Given the description of an element on the screen output the (x, y) to click on. 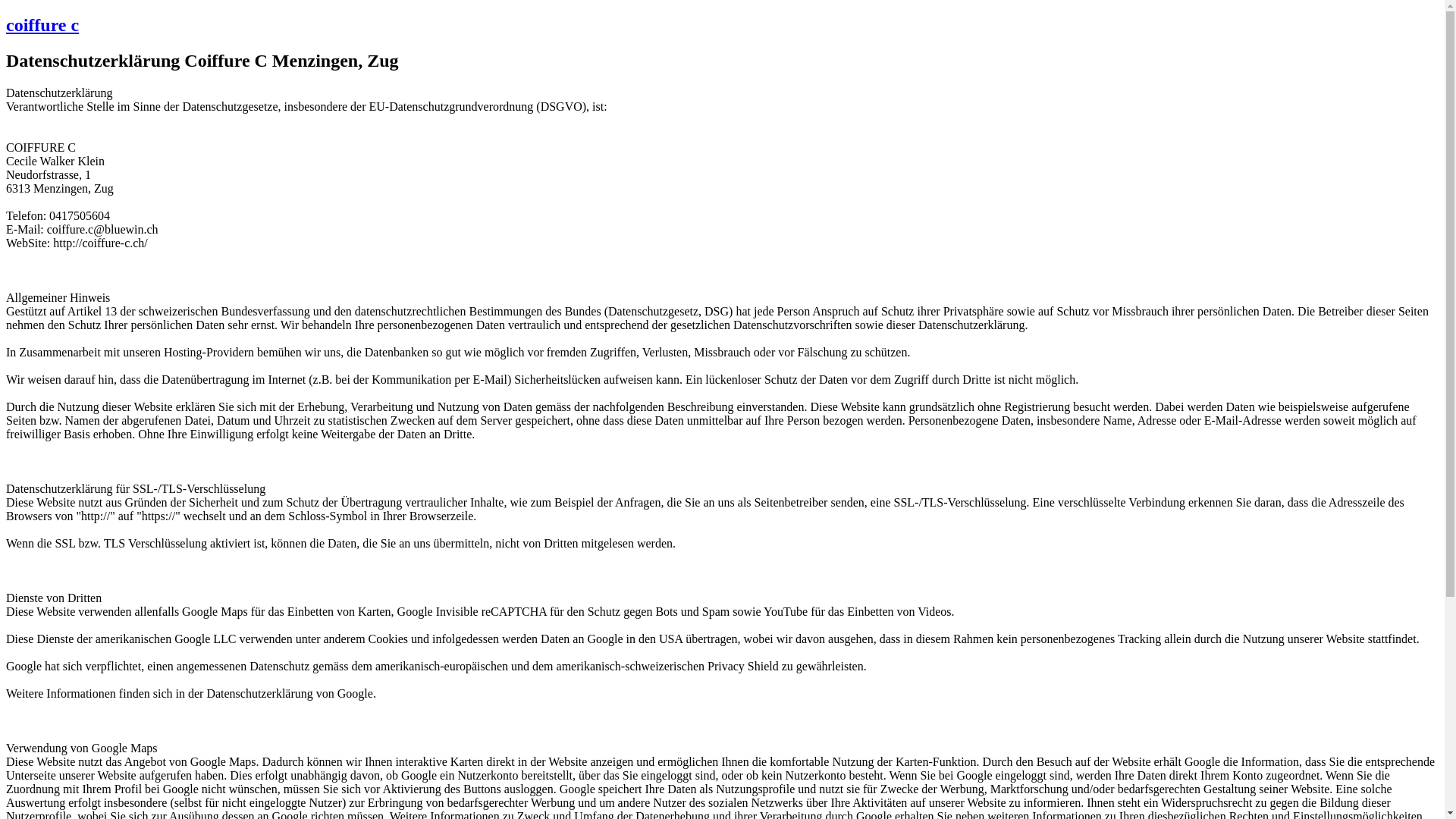
coiffure c Element type: text (42, 24)
